Given the description of an element on the screen output the (x, y) to click on. 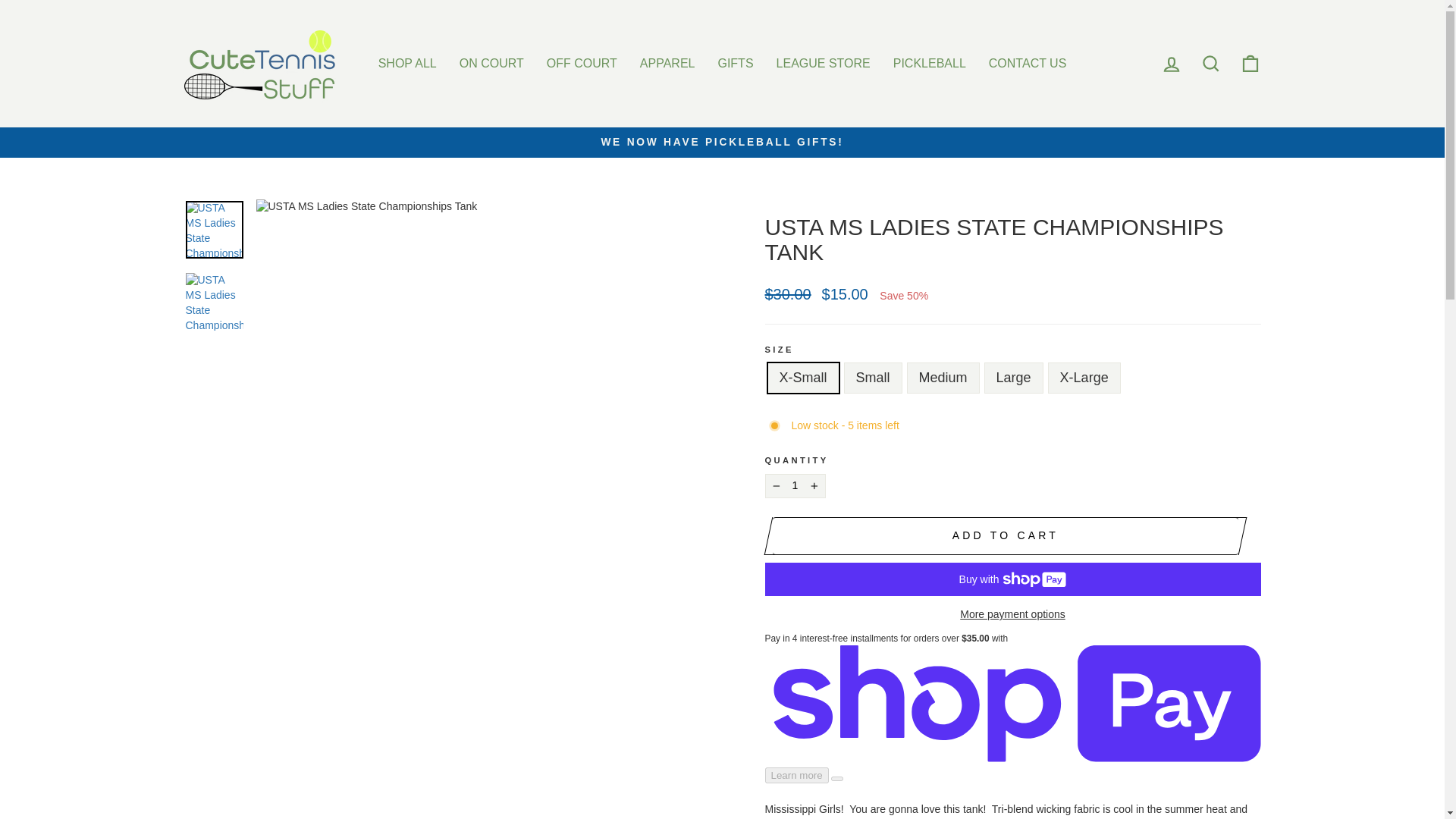
1 (794, 485)
